Given the description of an element on the screen output the (x, y) to click on. 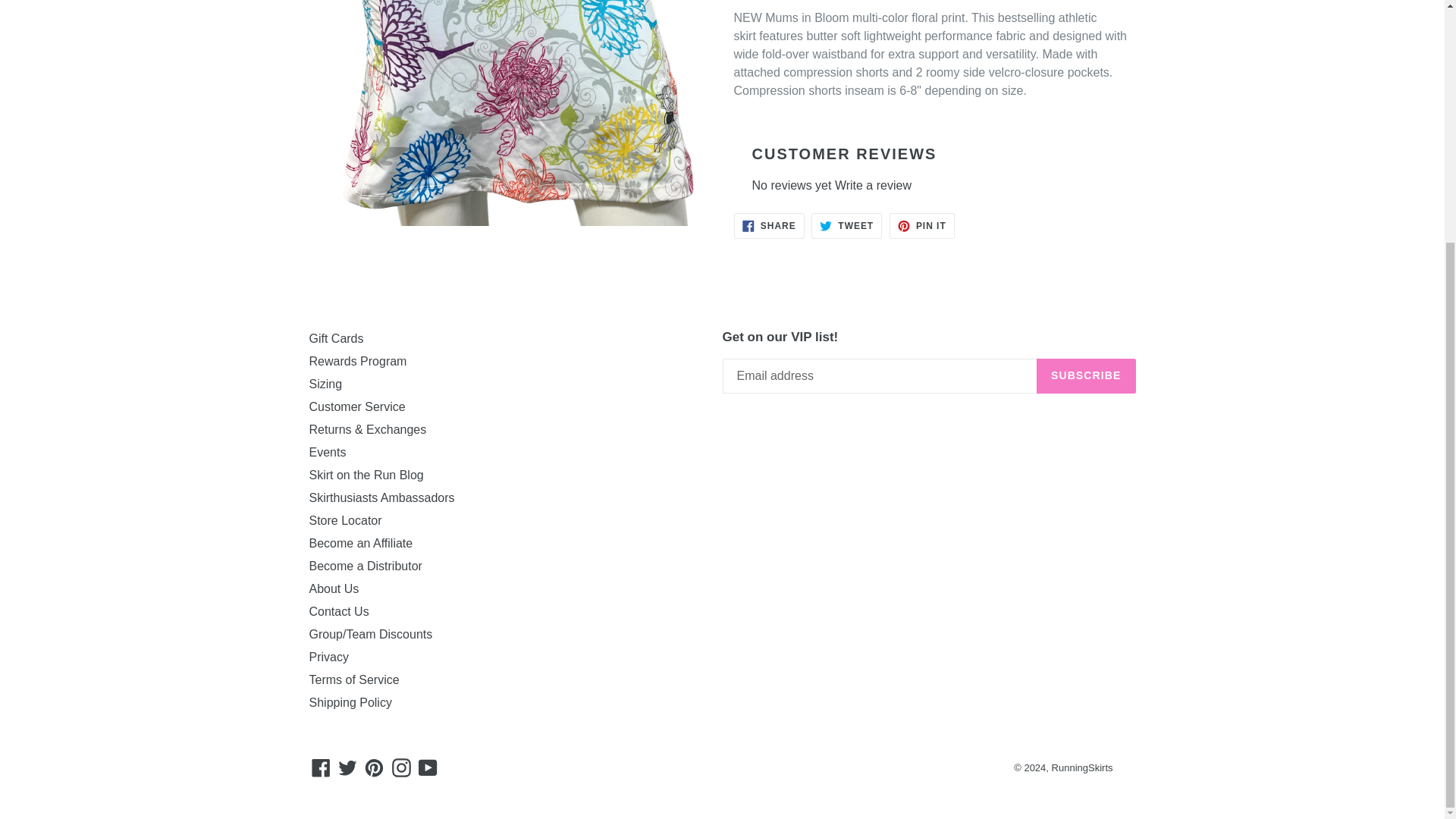
RunningSkirts on Twitter (347, 767)
Share on Facebook (769, 225)
RunningSkirts on YouTube (427, 767)
Tweet on Twitter (846, 225)
RunningSkirts on Facebook (320, 767)
RunningSkirts on Instagram (401, 767)
Pin on Pinterest (922, 225)
RunningSkirts on Pinterest (373, 767)
